Given the description of an element on the screen output the (x, y) to click on. 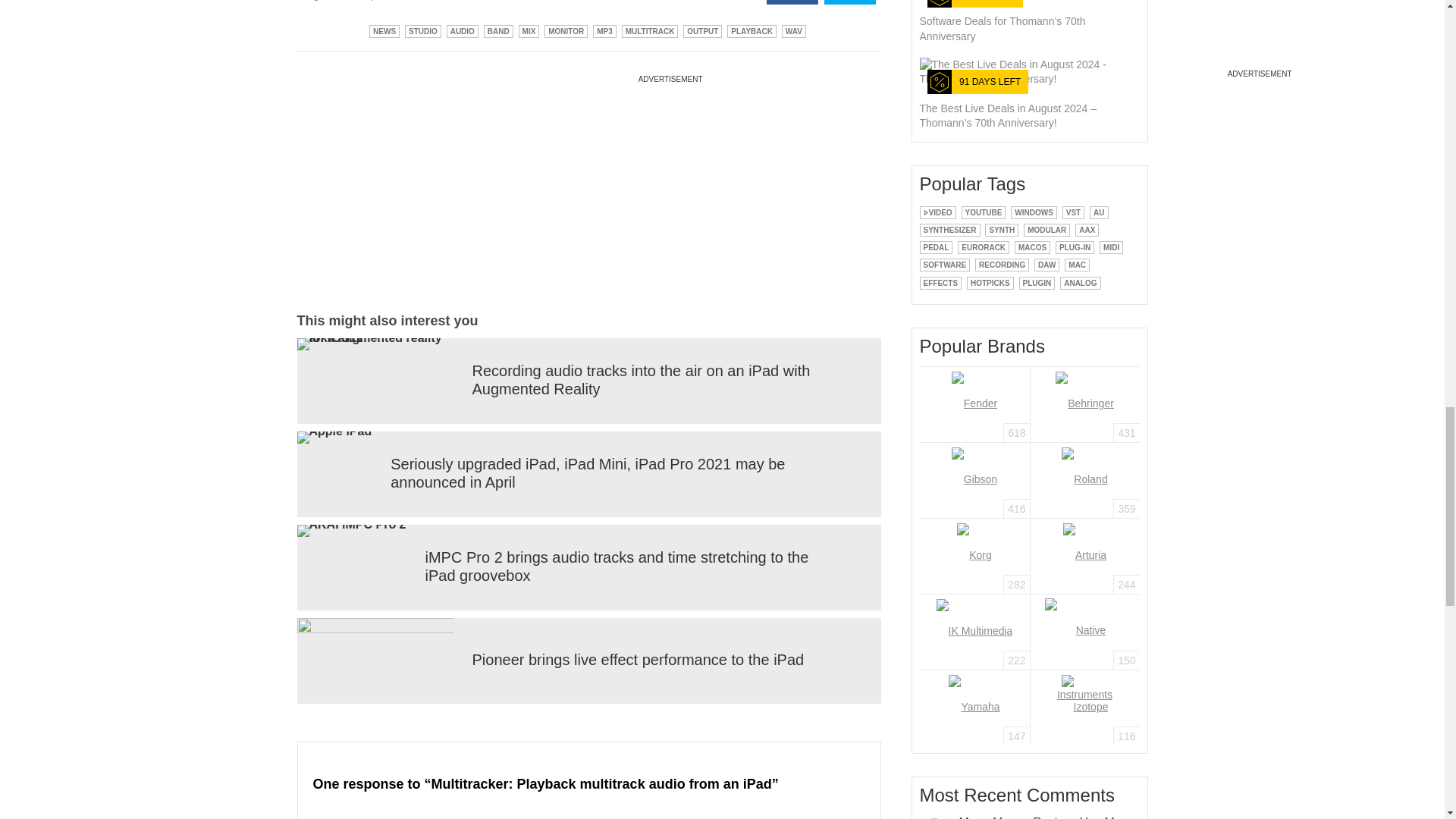
View all Posts in Studio (422, 30)
View all Posts in Band (498, 30)
Share on Twitter (850, 2)
View all Posts in Output (702, 30)
View all Posts in News (383, 30)
View all Posts in mix (529, 30)
View all Posts in Monitor (566, 30)
View all Posts in audio (462, 30)
Share on Facebook (791, 2)
View all Posts in playback (751, 30)
View all Posts in mp3 (603, 30)
View all Posts in Multitrack (649, 30)
